Given the description of an element on the screen output the (x, y) to click on. 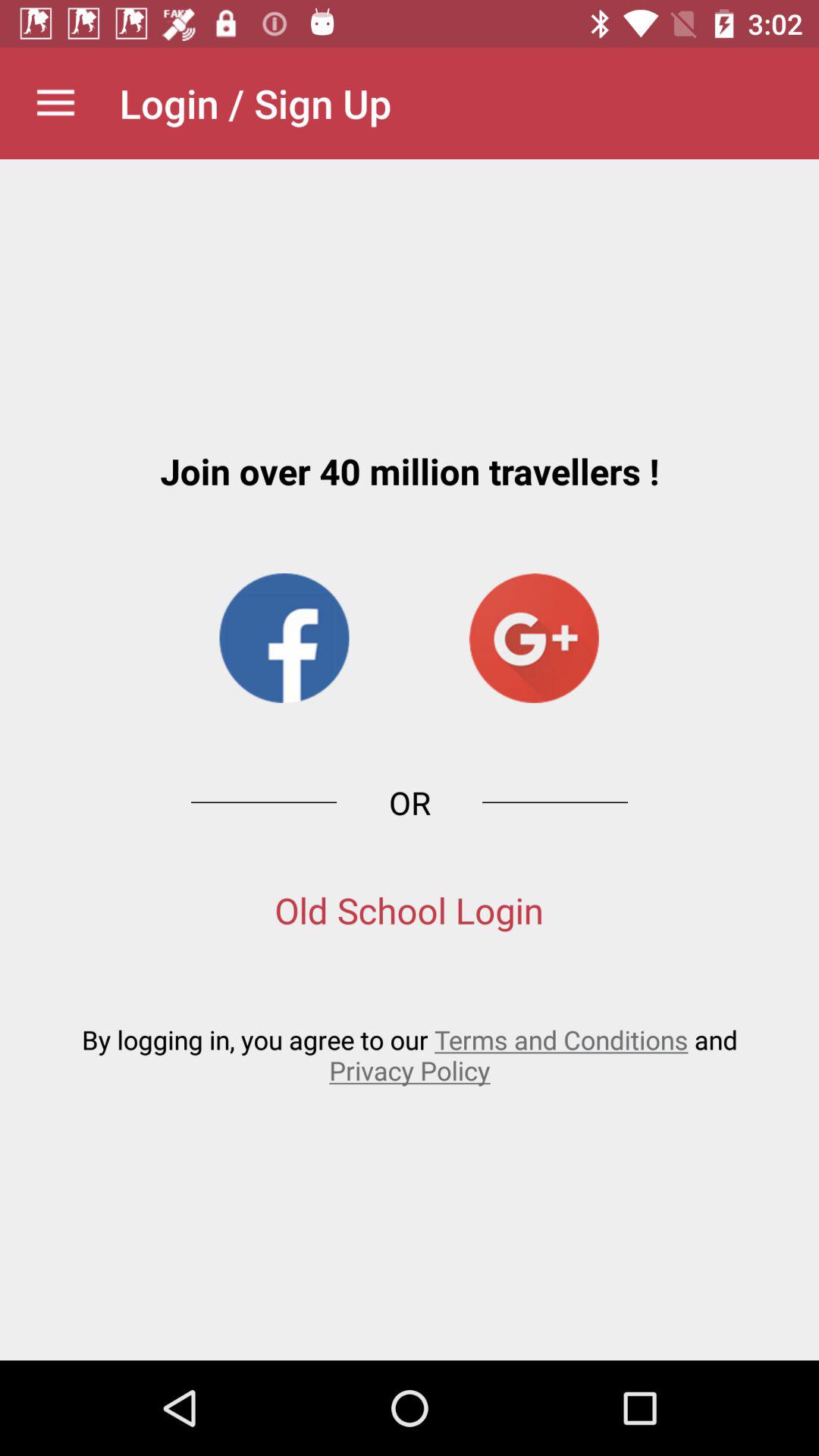
open the icon below join over 40 (533, 637)
